Given the description of an element on the screen output the (x, y) to click on. 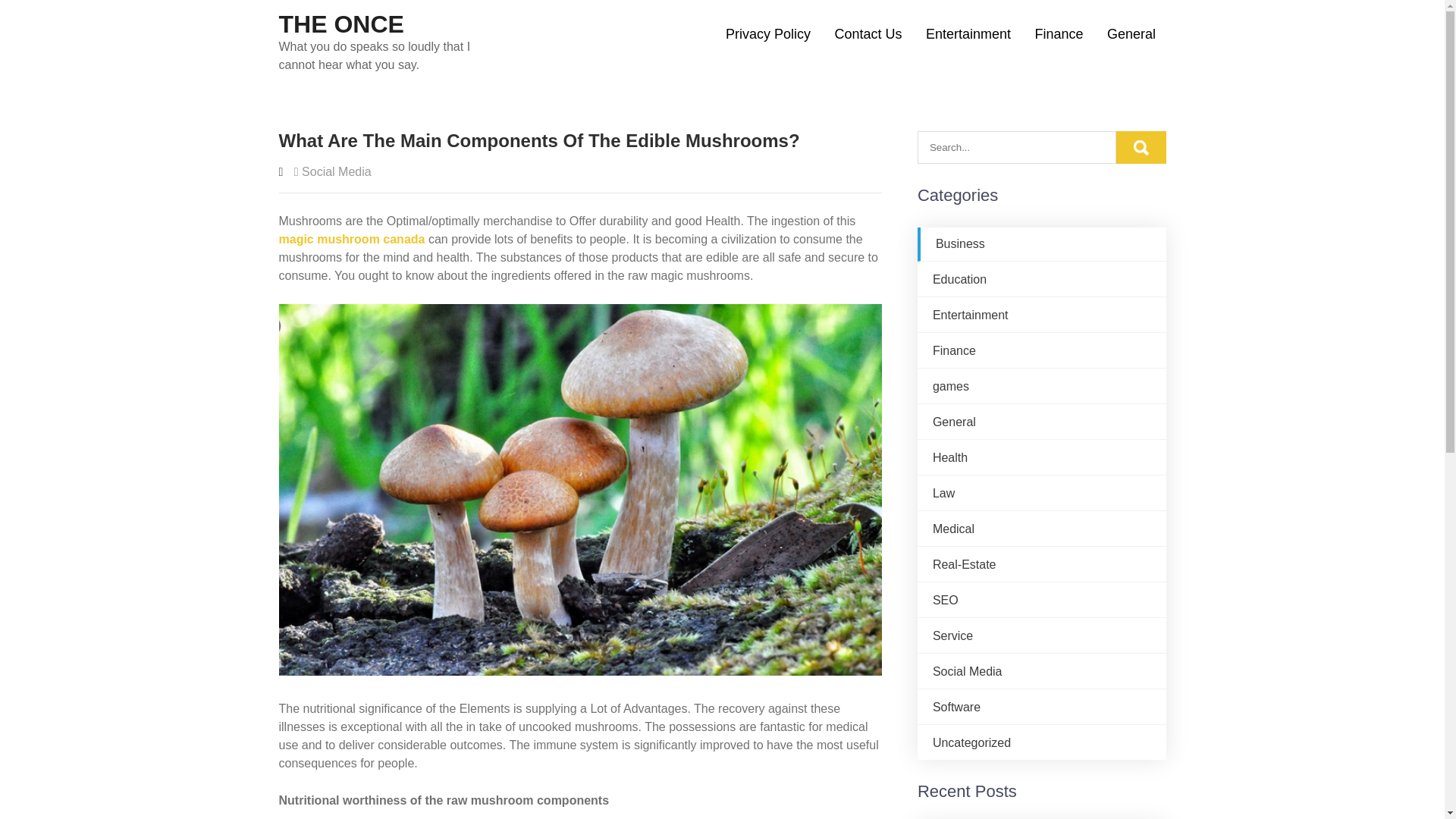
Software (956, 707)
SEO (945, 599)
Finance (954, 350)
Service (952, 635)
Search (1141, 147)
Health (950, 457)
Search (1141, 147)
Education (960, 278)
Real-Estate (964, 563)
magic mushroom canada (352, 238)
Finance (1059, 34)
Social Media (968, 671)
Privacy Policy (767, 34)
General (954, 421)
Entertainment (967, 34)
